Given the description of an element on the screen output the (x, y) to click on. 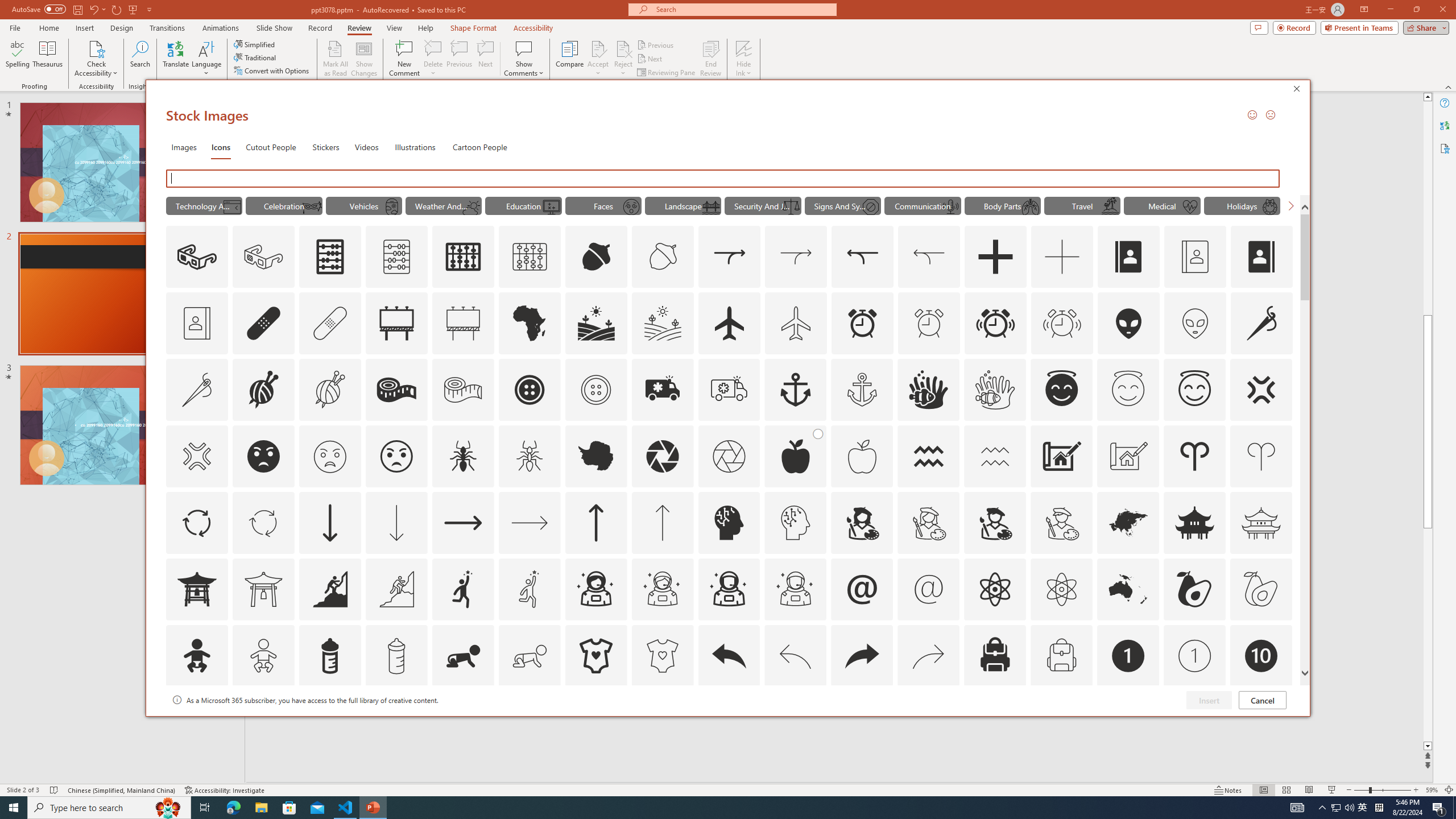
Cancel (1263, 700)
AutomationID: Icons_AlarmClock_M (928, 323)
AutomationID: Icons_BabyOnesie (595, 655)
"Education" Icons. (523, 205)
AutomationID: Icons_Badge1_M (1194, 655)
Images (183, 146)
AutomationID: Icons_Back_LTR (729, 655)
